Given the description of an element on the screen output the (x, y) to click on. 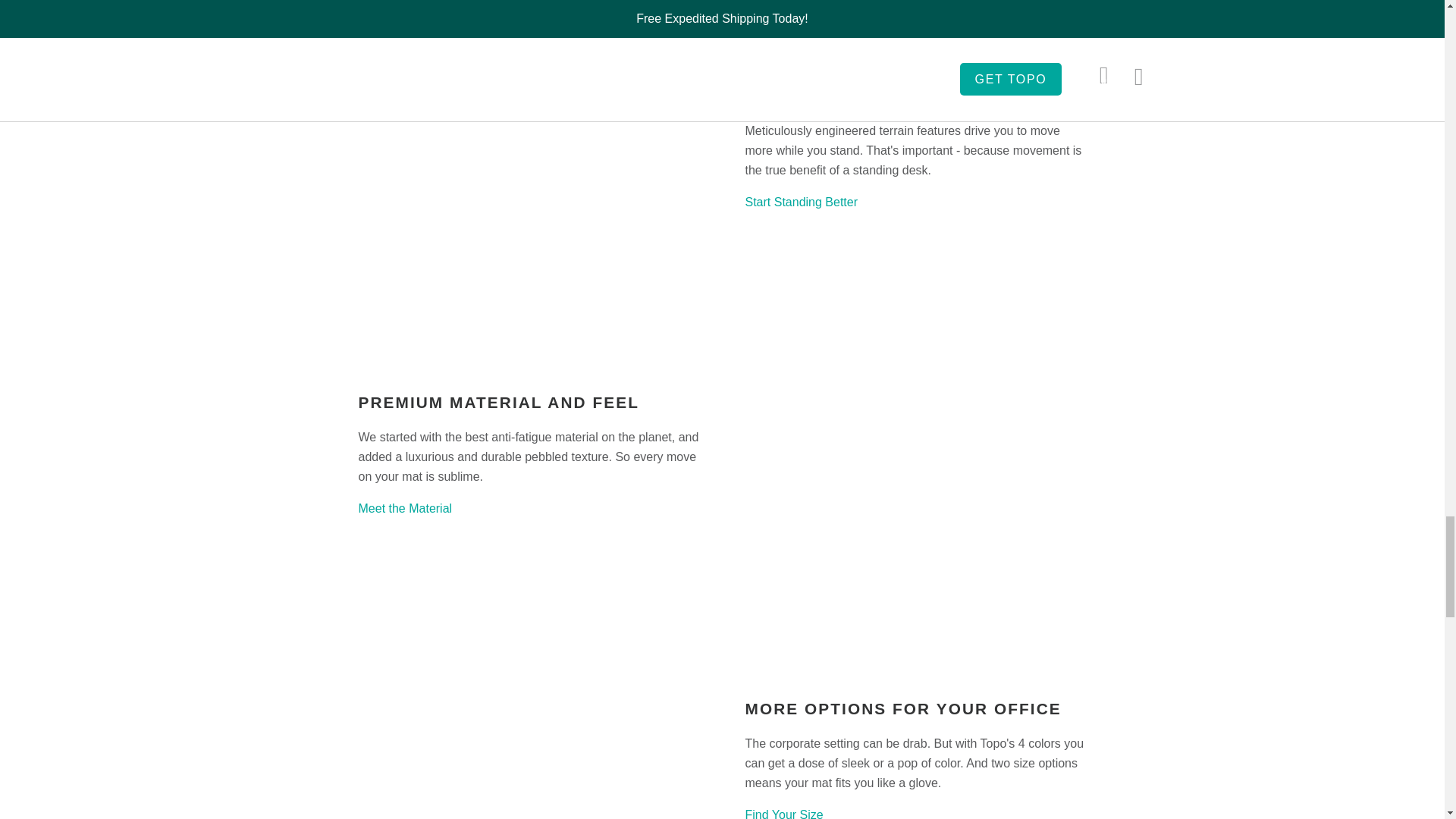
Start Standing Better (800, 201)
Meet the Material (404, 508)
Find Your Size (783, 813)
